Given the description of an element on the screen output the (x, y) to click on. 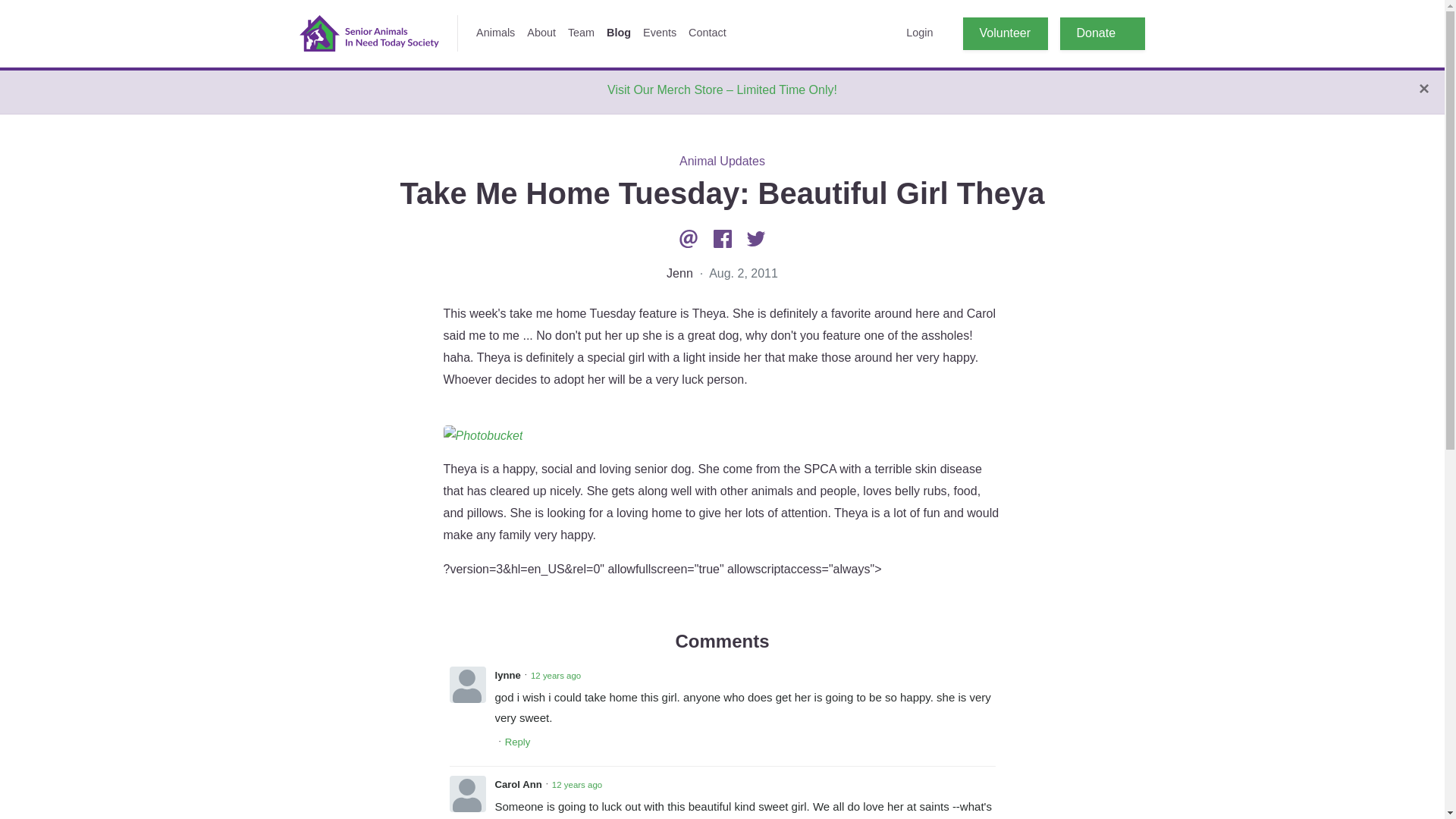
12 years ago (555, 675)
Animals (495, 33)
12 years ago (576, 784)
Reply (518, 742)
Events (659, 33)
Login (919, 33)
Team (580, 33)
About (541, 33)
Blog (618, 33)
Donate (1101, 33)
Volunteer (1005, 33)
Contact (707, 33)
Twitter (756, 237)
